Given the description of an element on the screen output the (x, y) to click on. 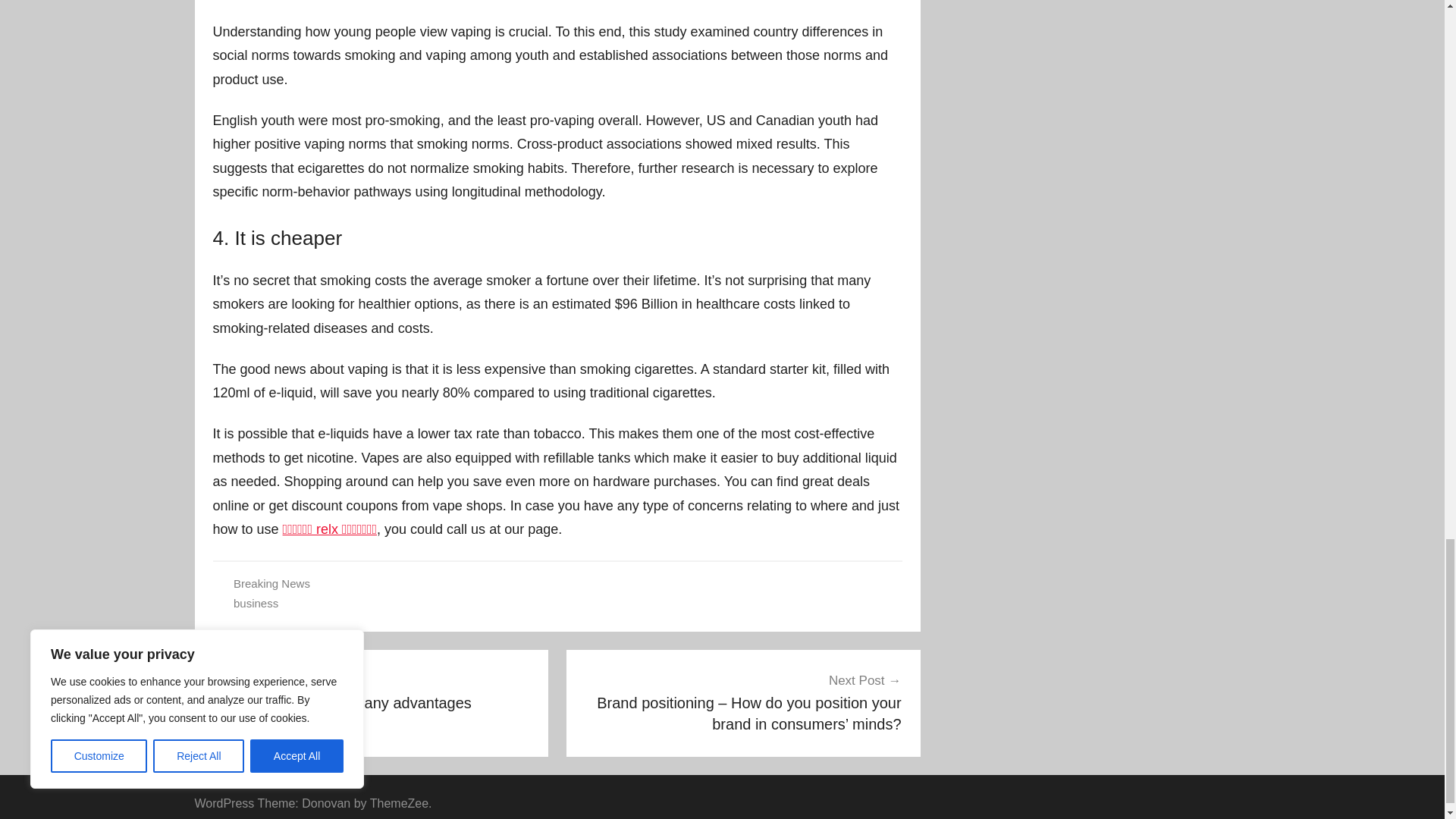
business (371, 691)
Breaking News (255, 603)
